Given the description of an element on the screen output the (x, y) to click on. 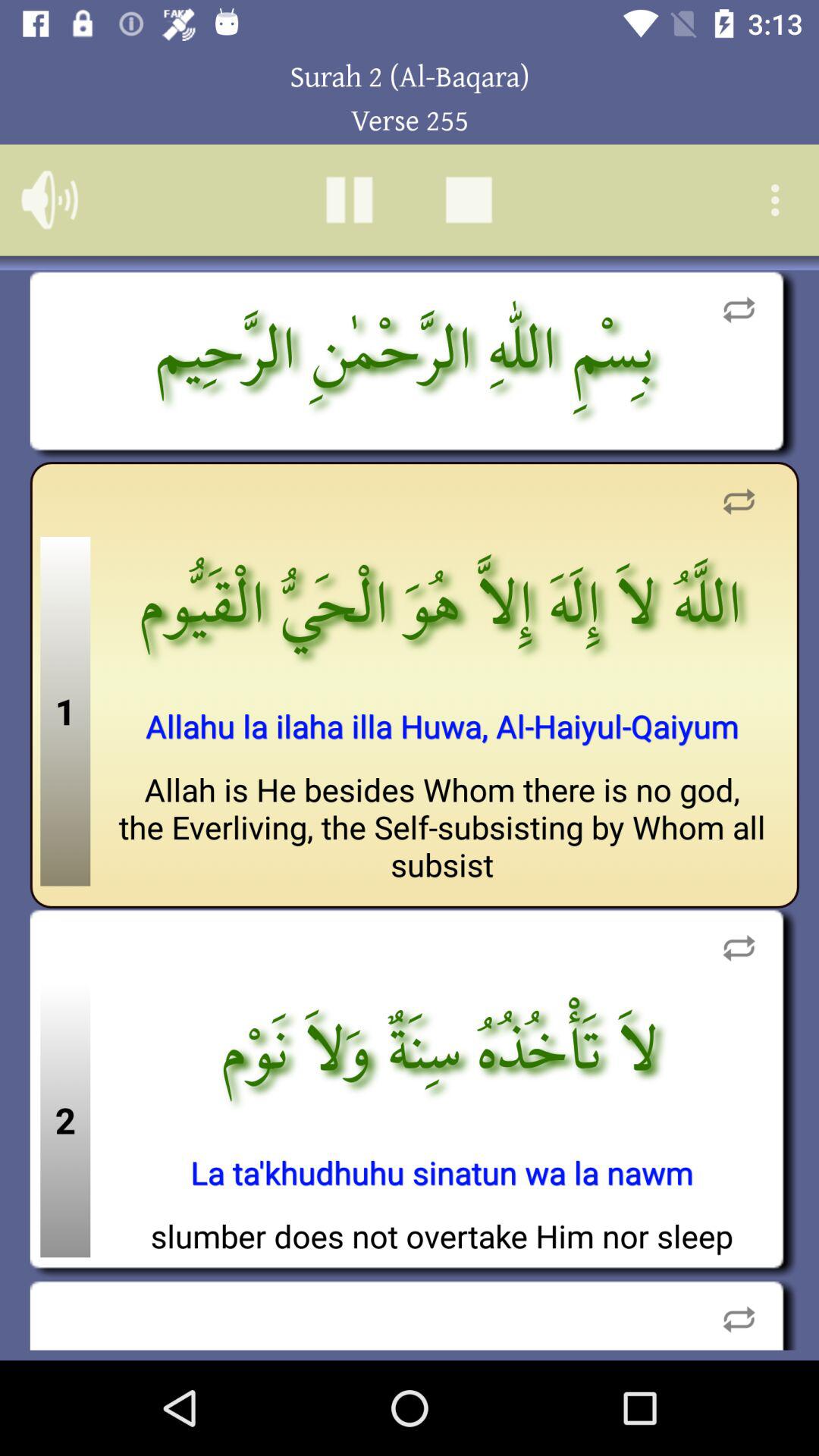
pause (349, 199)
